Given the description of an element on the screen output the (x, y) to click on. 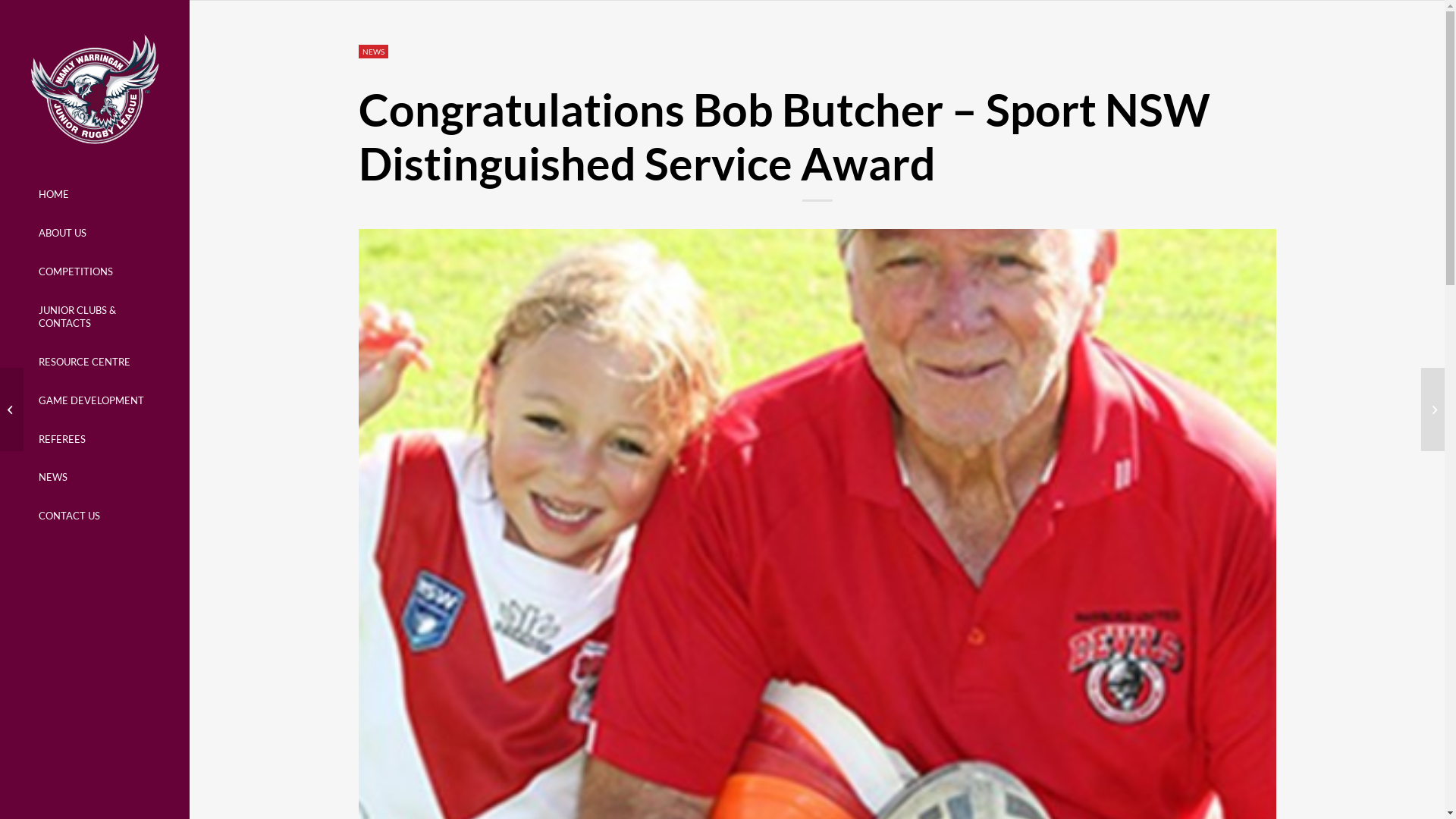
GAME DEVELOPMENT Element type: text (94, 400)
RESOURCE CENTRE Element type: text (94, 361)
JUNIOR CLUBS & CONTACTS Element type: text (94, 316)
NEWS Element type: text (372, 51)
ABOUT US Element type: text (94, 232)
NEWS Element type: text (94, 477)
COMPETITIONS Element type: text (94, 271)
CONTACT US Element type: text (94, 515)
REFEREES Element type: text (94, 439)
HOME Element type: text (94, 194)
